Given the description of an element on the screen output the (x, y) to click on. 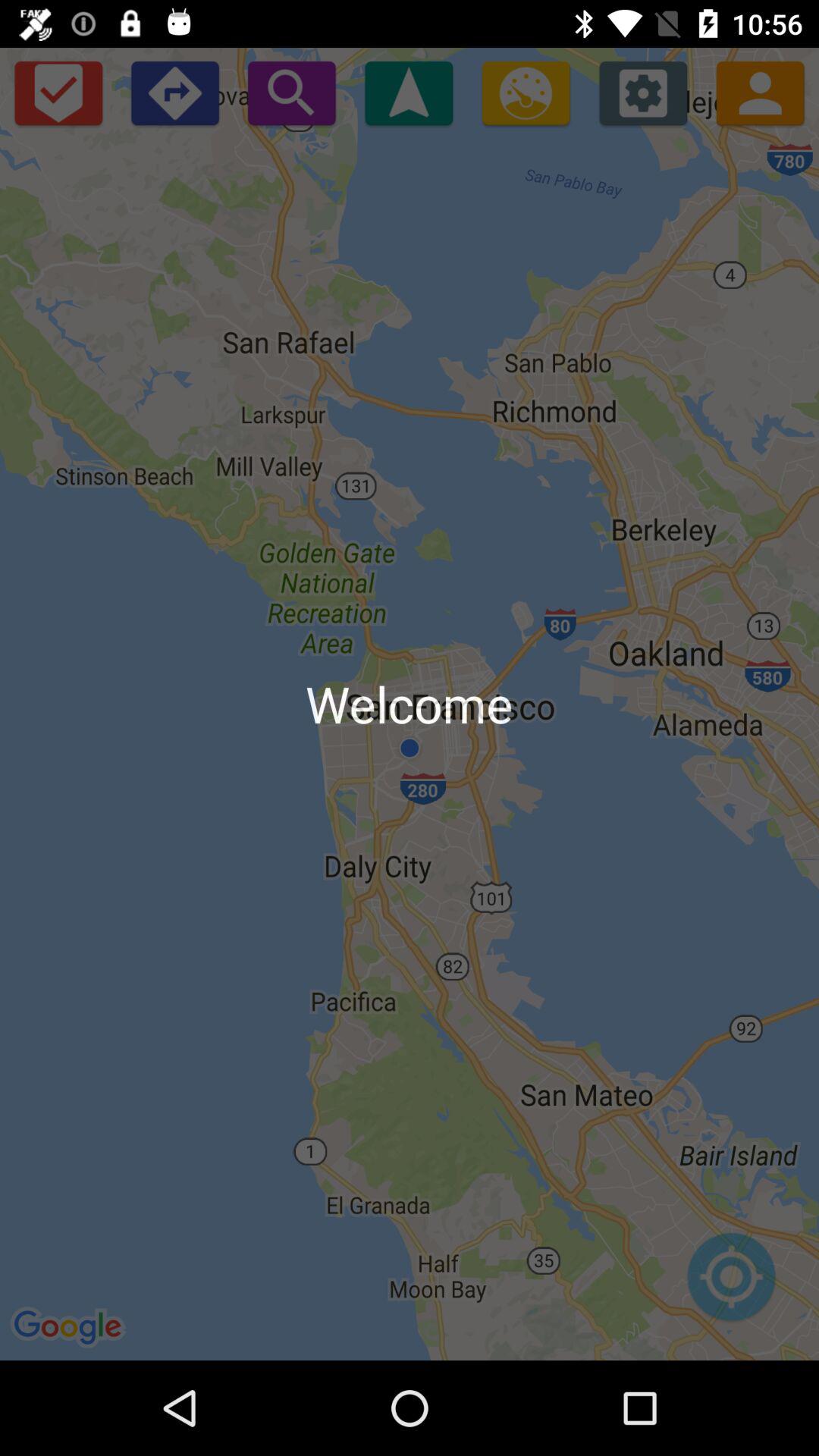
settings (642, 92)
